Given the description of an element on the screen output the (x, y) to click on. 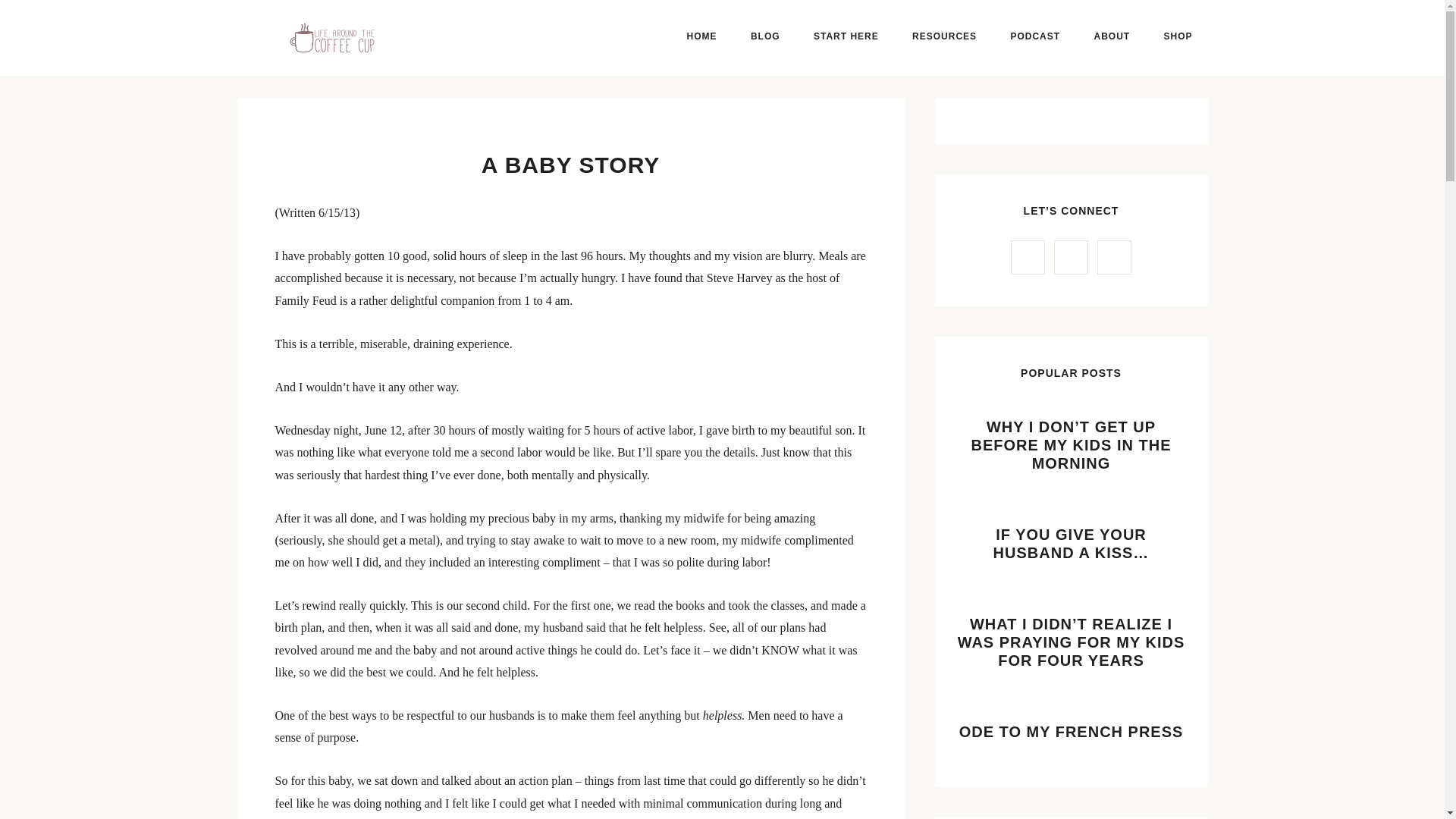
RESOURCES (943, 36)
ABOUT (1111, 36)
SHOP (1177, 36)
BLOG (764, 36)
START HERE (845, 36)
HOME (701, 36)
LEAH HEFFNER (330, 37)
PODCAST (1034, 36)
